Given the description of an element on the screen output the (x, y) to click on. 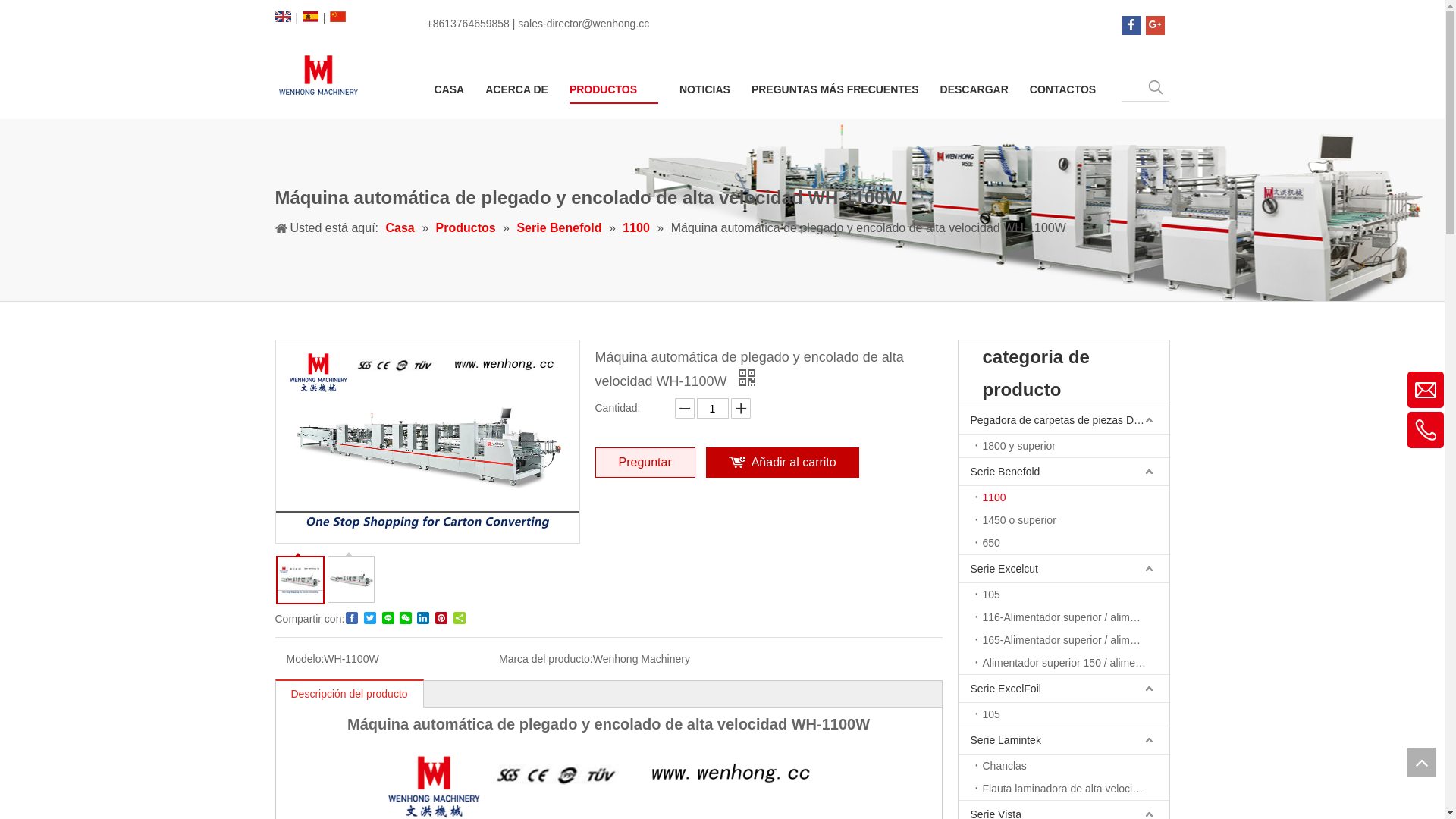
DESCARGAR Element type: text (974, 87)
Serie ExcelFoil Element type: text (1063, 688)
Serie Benefold Element type: text (1063, 472)
CASA Element type: text (449, 87)
ACERCA DE Element type: text (516, 87)
Pegadora de carpetas de piezas Doube Element type: text (1063, 420)
Serie Benefold Element type: text (560, 227)
PRODUCTOS   Element type: text (613, 88)
Chanclas Element type: text (1072, 765)
Preguntar Element type: text (644, 462)
logo2 Element type: hover (317, 73)
Tel Element type: text (1386, 437)
Serie Lamintek Element type: text (1063, 740)
165-Alimentador superior / alimentador de borde de avance Element type: text (1072, 639)
1800 y superior Element type: text (1072, 445)
top Element type: text (1420, 761)
Google+ Element type: hover (1154, 24)
NOTICIAS Element type: text (704, 87)
Facebook Element type: hover (1131, 24)
1100 Element type: text (637, 227)
1100 Element type: text (1072, 497)
Email Element type: text (1379, 396)
105 Element type: text (1072, 713)
Casa Element type: text (401, 227)
Serie Excelcut Element type: text (1063, 569)
105 Element type: text (1072, 594)
116-Alimentador superior / alimentador de borde de avance Element type: text (1072, 616)
1450 o superior Element type: text (1072, 519)
Alimentador superior 150 / alimentador de borde de avance Element type: text (1072, 662)
Flauta laminadora de alta velocidad 15/12, 1712 Element type: text (1072, 788)
CONTACTOS Element type: text (1062, 87)
Productos Element type: text (467, 227)
650 Element type: text (1072, 542)
